Given the description of an element on the screen output the (x, y) to click on. 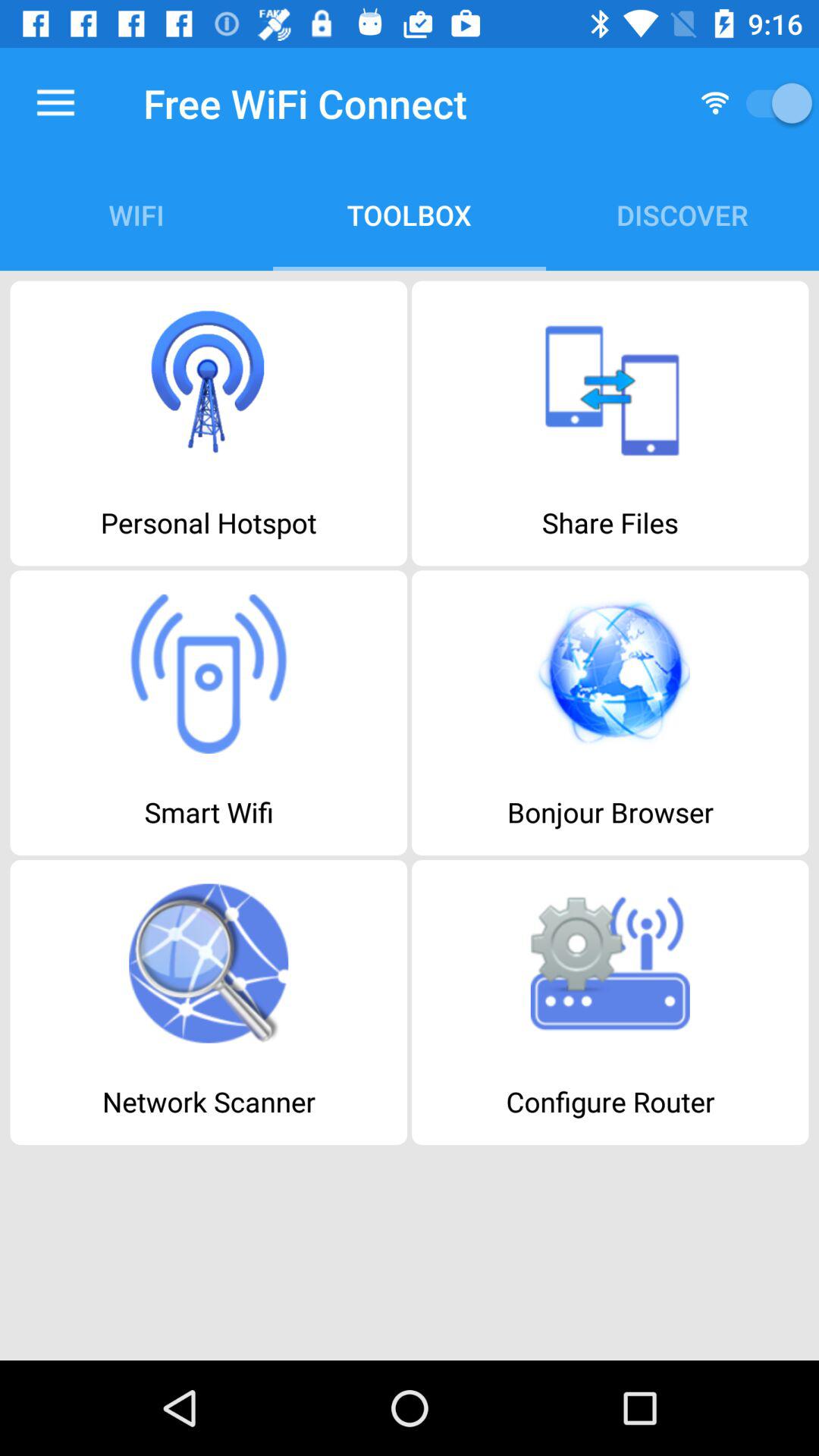
swtich autoplay option (773, 103)
